Given the description of an element on the screen output the (x, y) to click on. 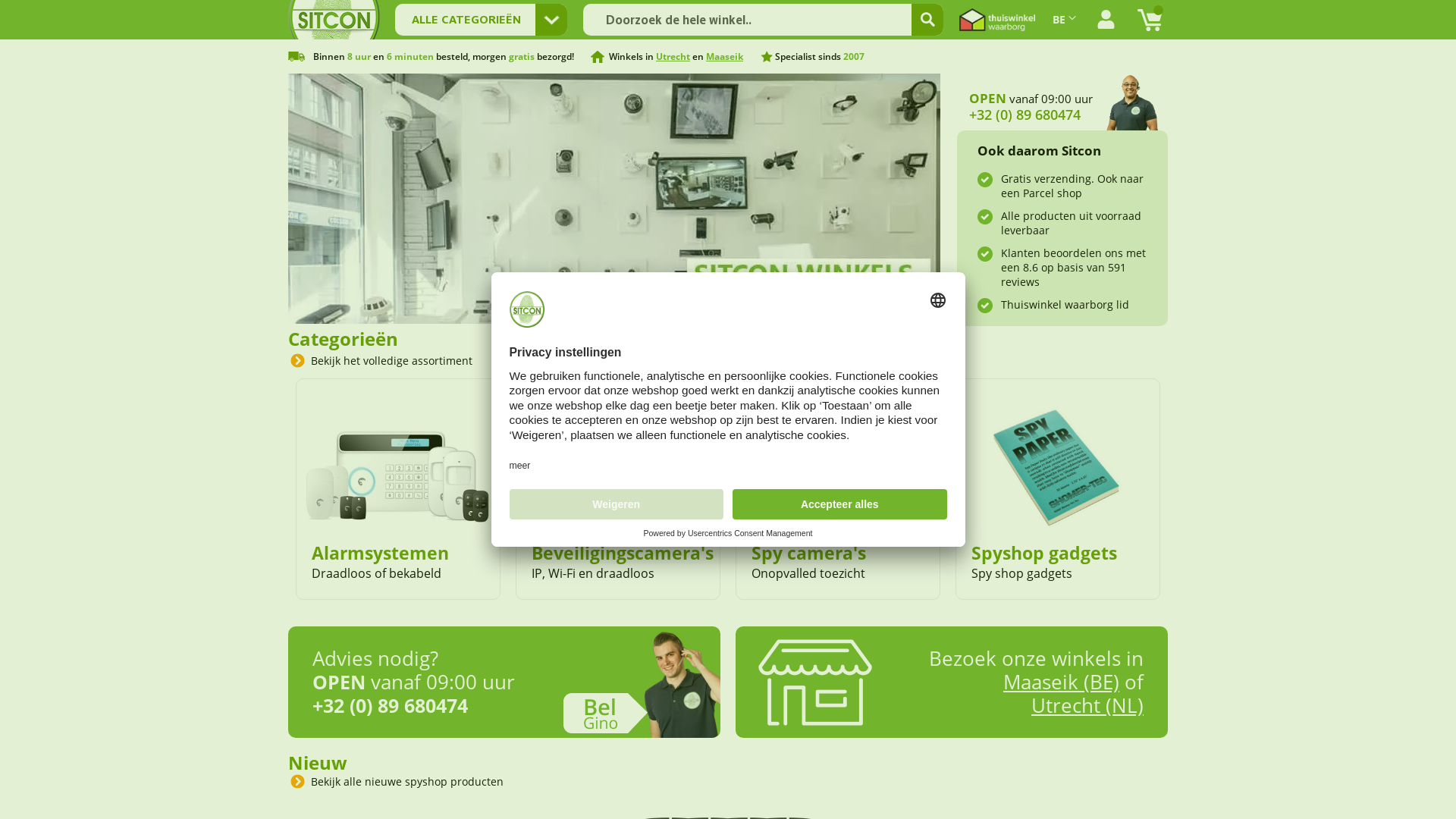
Bekijk het volledige assortiment Element type: text (389, 360)
Spyshop gadgets Element type: text (1044, 552)
Winkelwagen Element type: text (1149, 19)
Utrecht Element type: text (672, 56)
Utrecht (NL) Element type: text (1087, 704)
Spy camera's Element type: text (808, 552)
Maaseik (BE) Element type: text (1061, 681)
Thuiswinkel Waarborg Element type: hover (997, 19)
Bekijk alle nieuwe spyshop producten Element type: text (405, 781)
Beveiligingscamera's Element type: text (622, 552)
Maaseik Element type: text (724, 56)
Alarmsystemen Element type: text (379, 552)
Zoek Element type: text (927, 19)
+32 (0) 89 680474 Element type: text (389, 705)
+32 (0) 89 680474 Element type: text (1024, 114)
Mijn account Element type: hover (1105, 19)
